Given the description of an element on the screen output the (x, y) to click on. 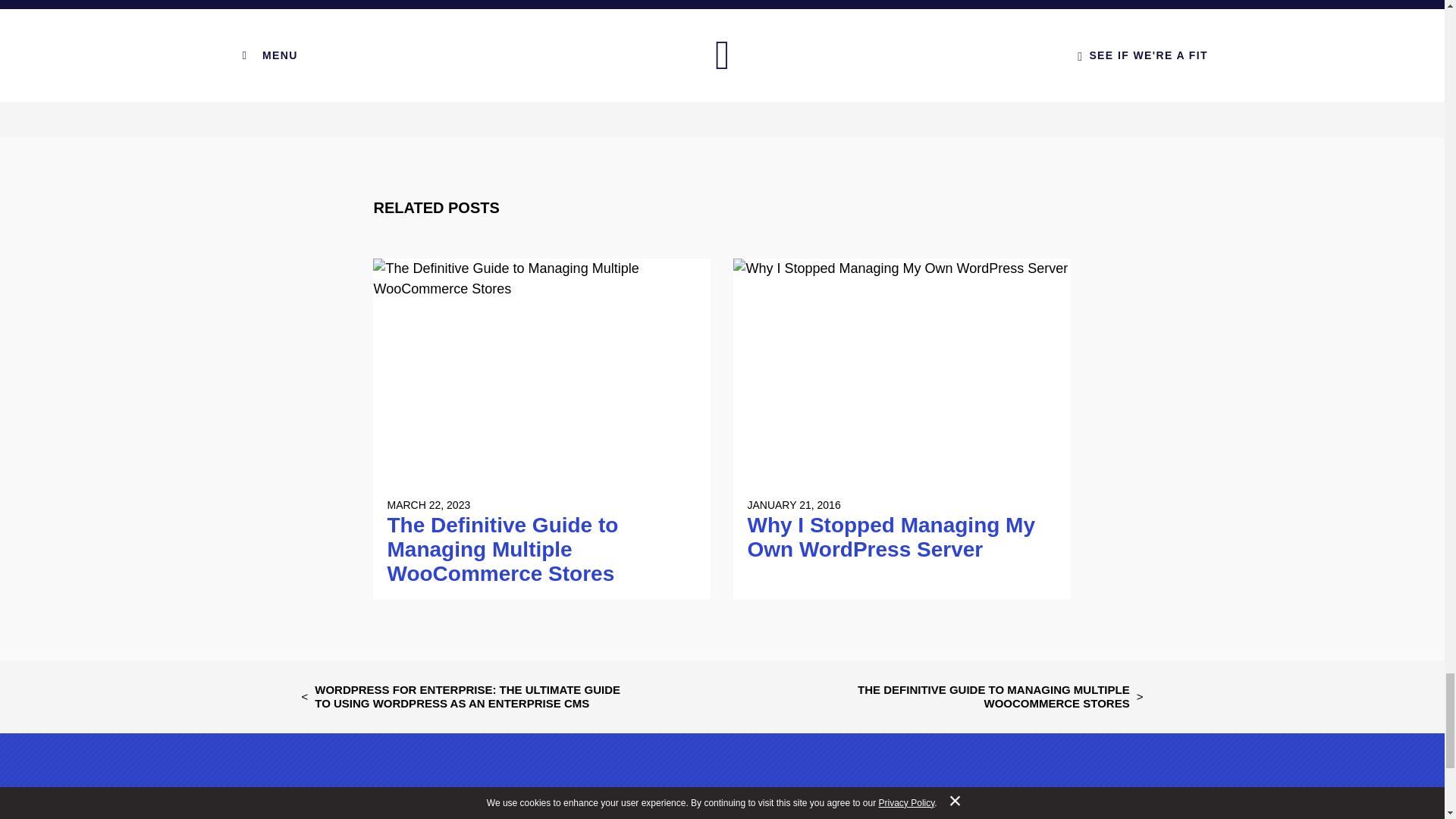
Posts by ximena (498, 0)
WooCommerce Expertise (708, 0)
WooCommerce Tutorials (853, 0)
ximena (498, 0)
